Given the description of an element on the screen output the (x, y) to click on. 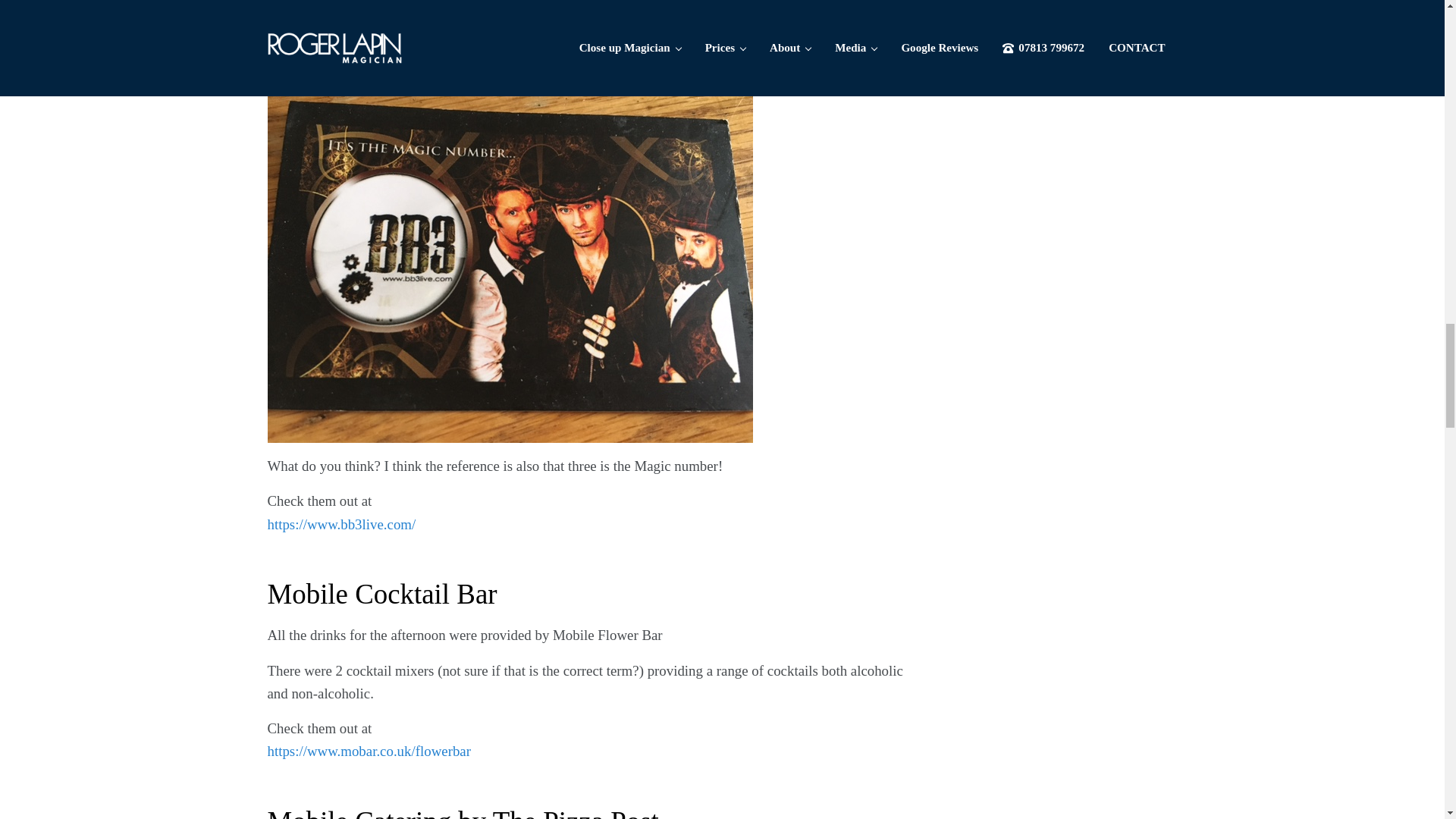
YouTube video player (478, 6)
